Given the description of an element on the screen output the (x, y) to click on. 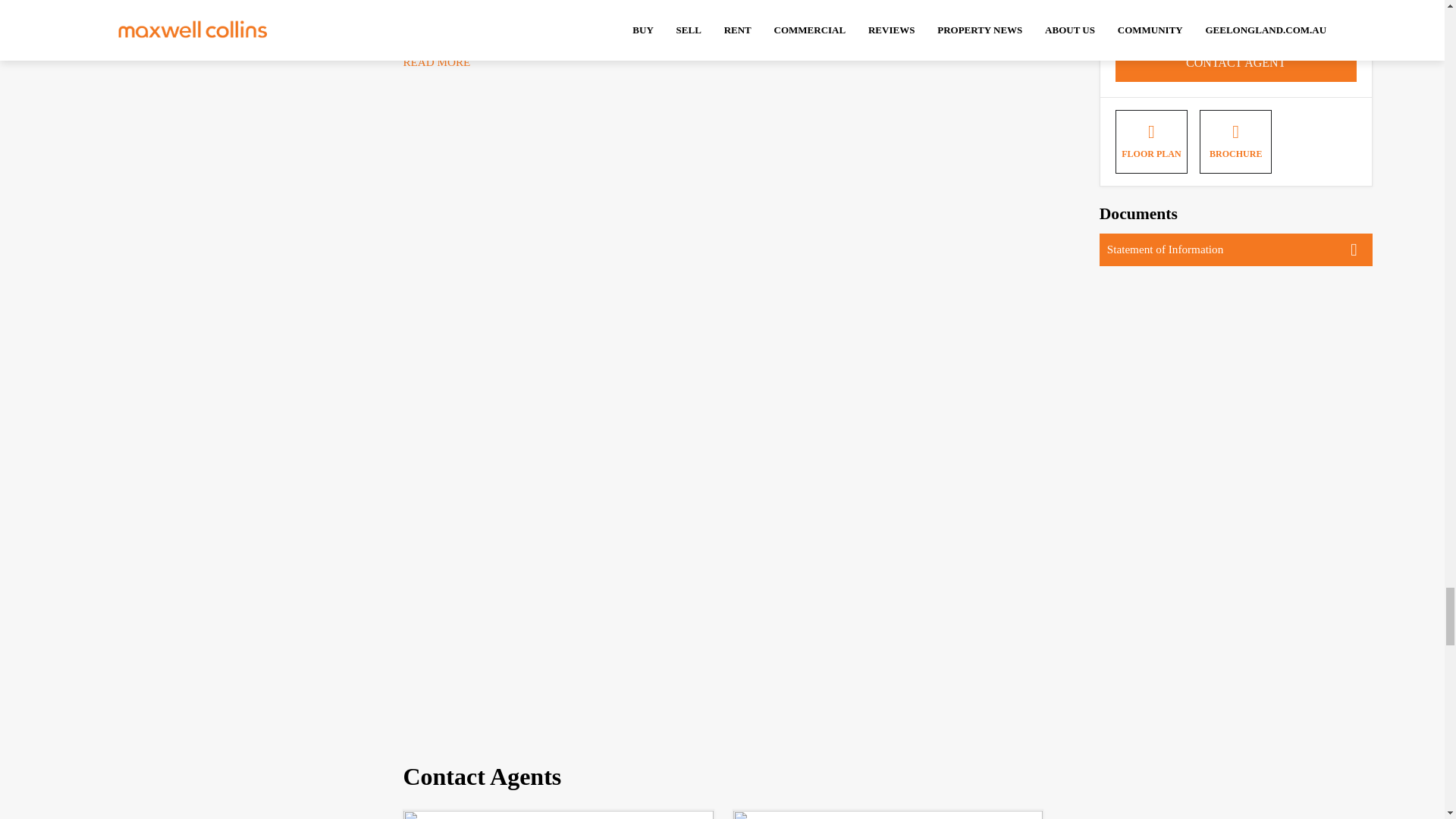
Eugene Carroll (558, 814)
Brochure (1235, 141)
Shaun Carroll (887, 814)
